Given the description of an element on the screen output the (x, y) to click on. 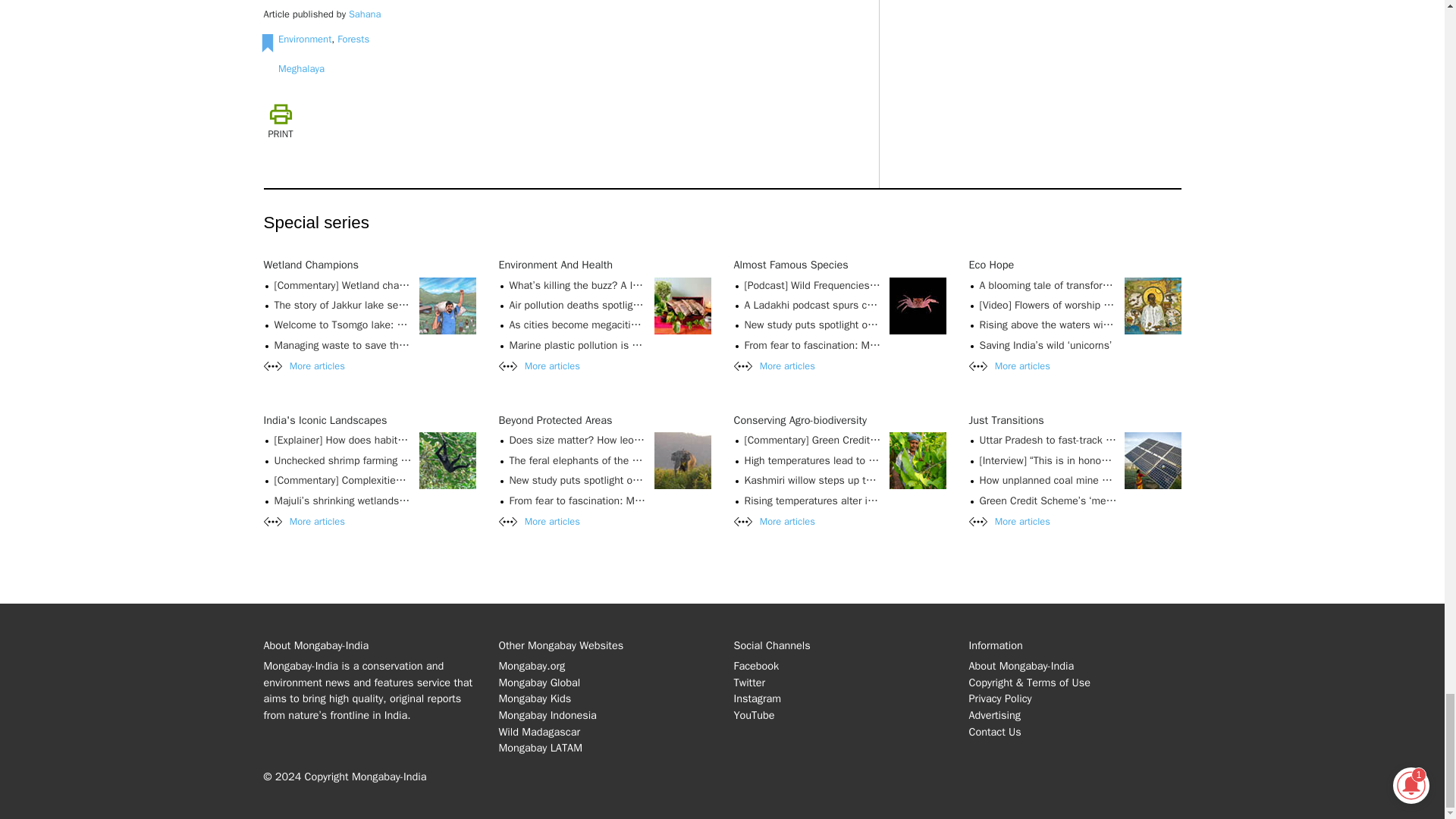
Forests (353, 38)
Sahana (364, 14)
Environment (304, 38)
Posts by Sahana (364, 14)
Meghalaya (301, 68)
